Given the description of an element on the screen output the (x, y) to click on. 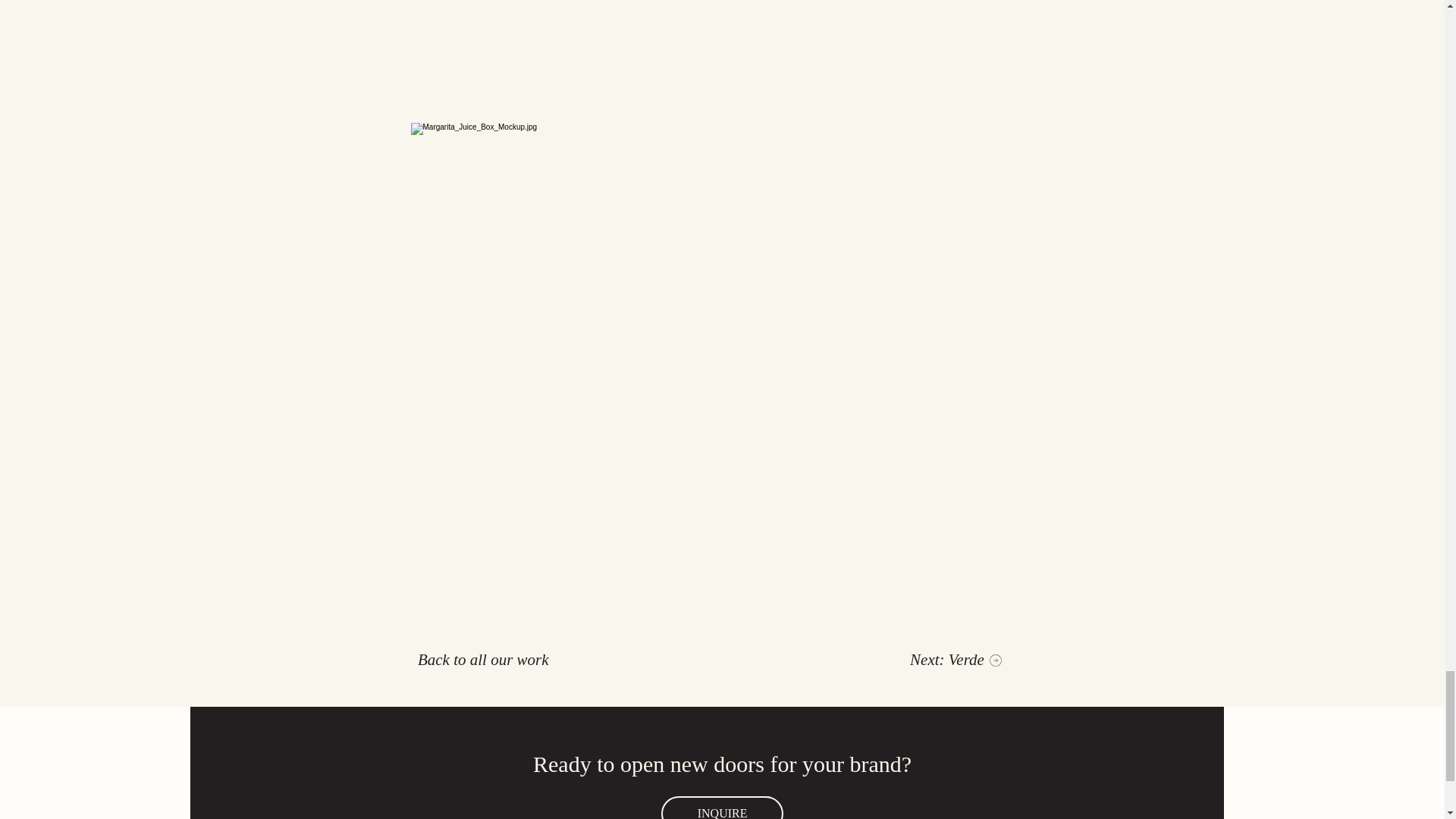
Back to all our work (484, 659)
Next: Verde (955, 659)
INQUIRE (722, 807)
